Given the description of an element on the screen output the (x, y) to click on. 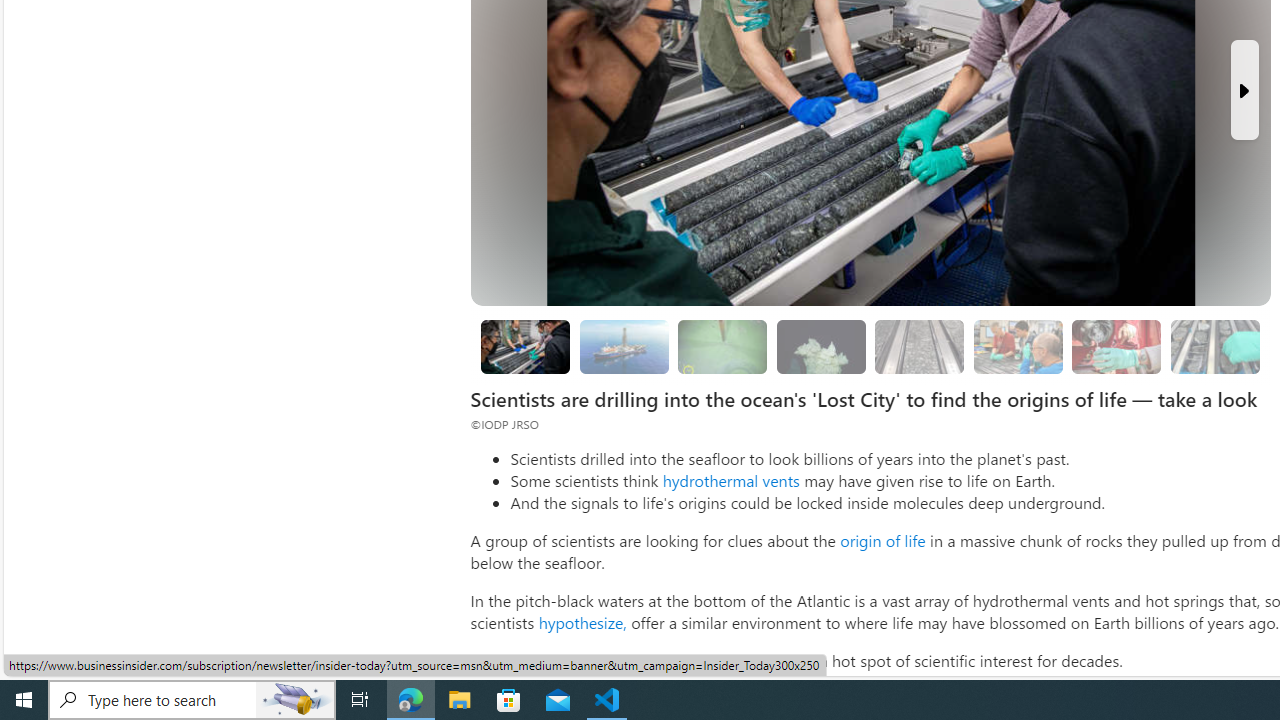
Researchers are still studying the samples (1214, 346)
Looking for evidence of oxygen-free life (1017, 346)
Class: progress (1214, 343)
